Given the description of an element on the screen output the (x, y) to click on. 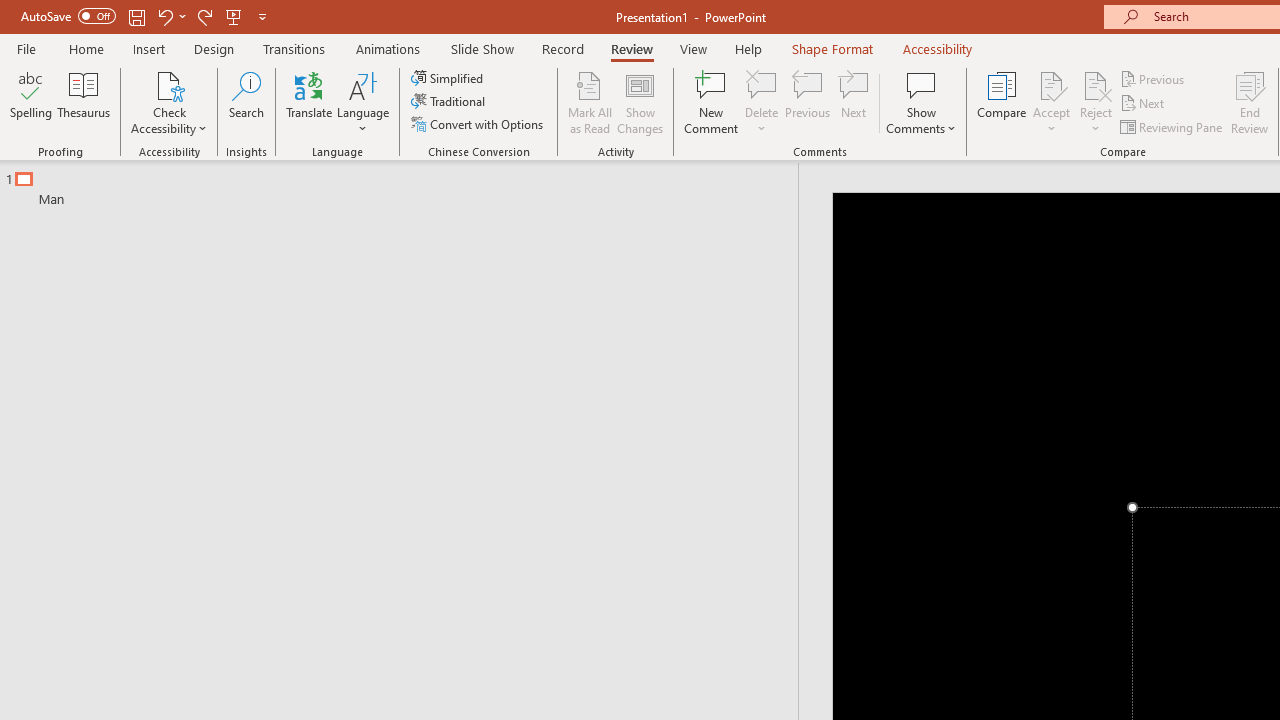
New Comment (711, 102)
